Given the description of an element on the screen output the (x, y) to click on. 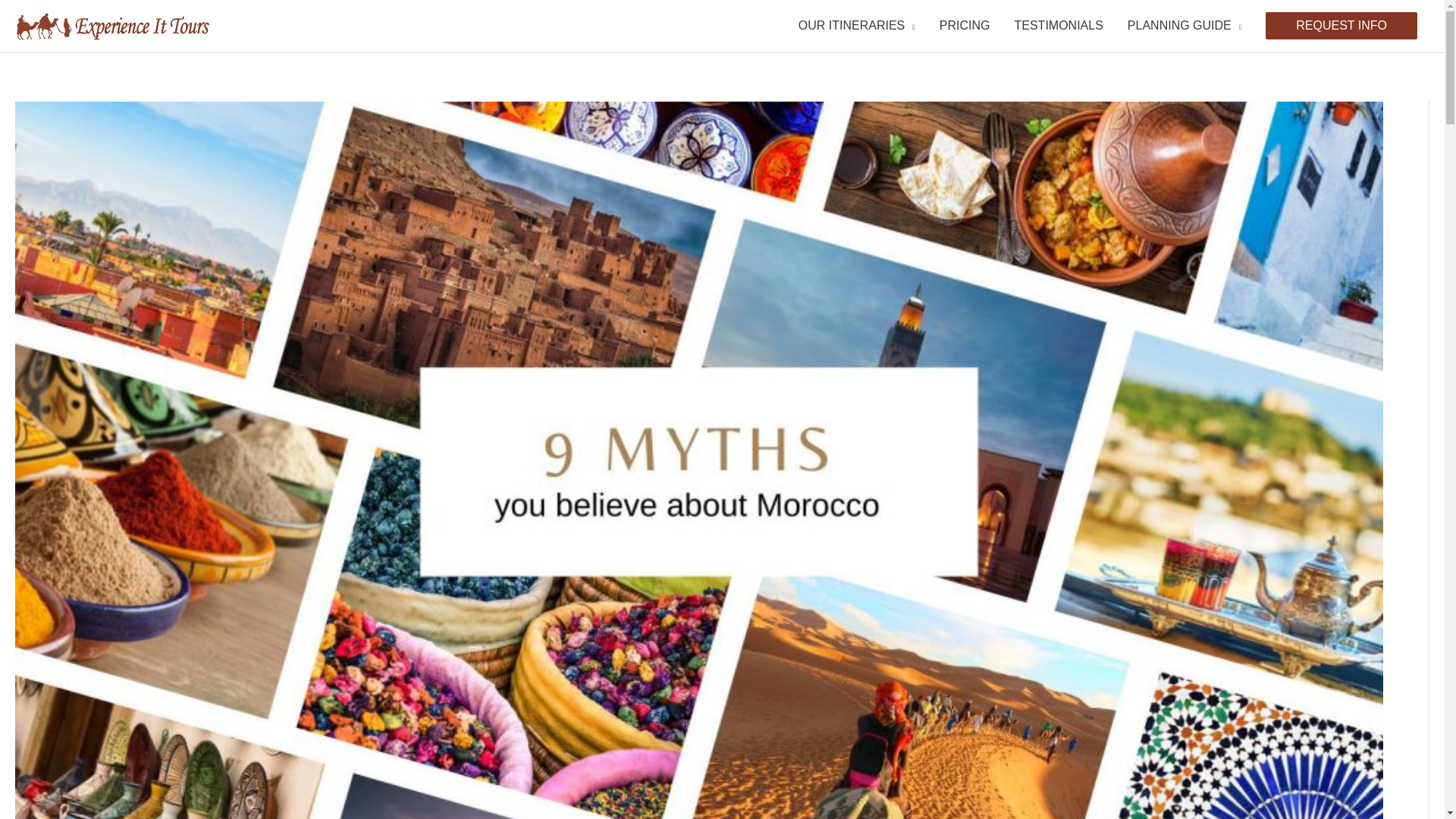
REQUEST INFO (1340, 25)
TESTIMONIALS (1058, 25)
PRICING (965, 25)
PLANNING GUIDE (1184, 25)
OUR ITINERARIES (856, 25)
